Given the description of an element on the screen output the (x, y) to click on. 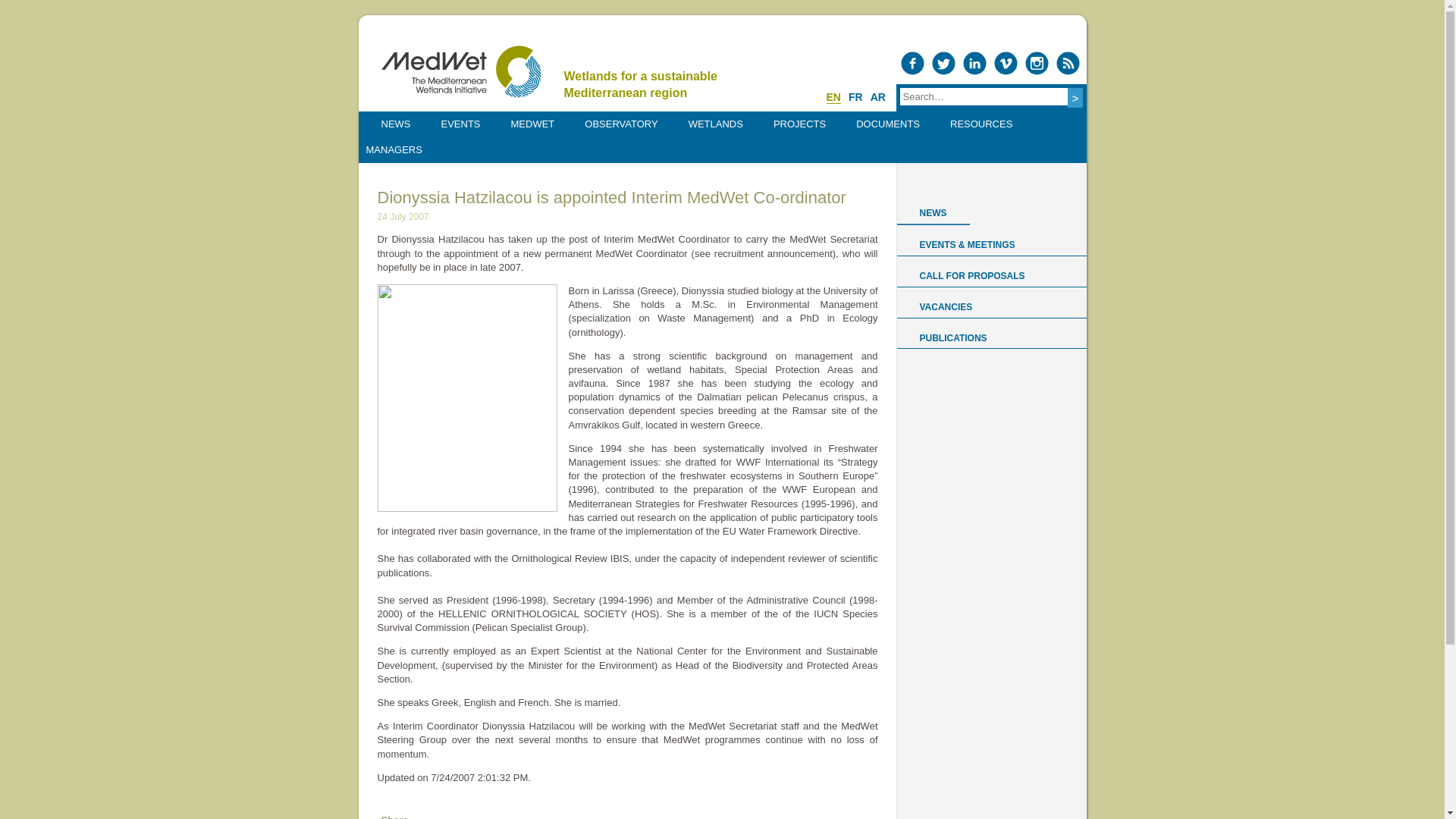
MedWet (460, 71)
NEWS (394, 124)
MANAGERS (393, 149)
EVENTS (460, 124)
MEDWET (532, 124)
OBSERVATORY (620, 124)
MedWet (460, 71)
